Given the description of an element on the screen output the (x, y) to click on. 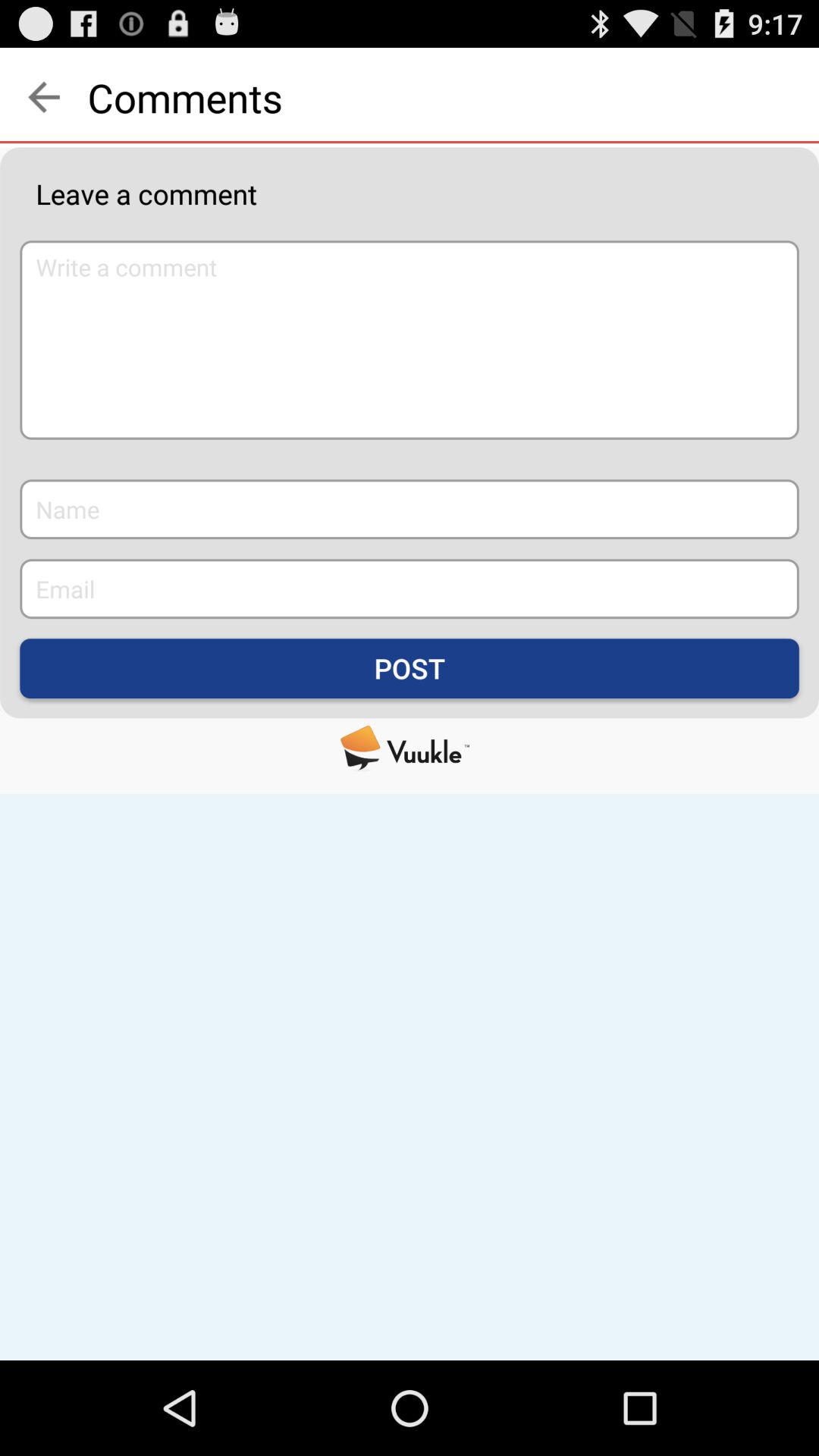
comment on vuukle (409, 748)
